Given the description of an element on the screen output the (x, y) to click on. 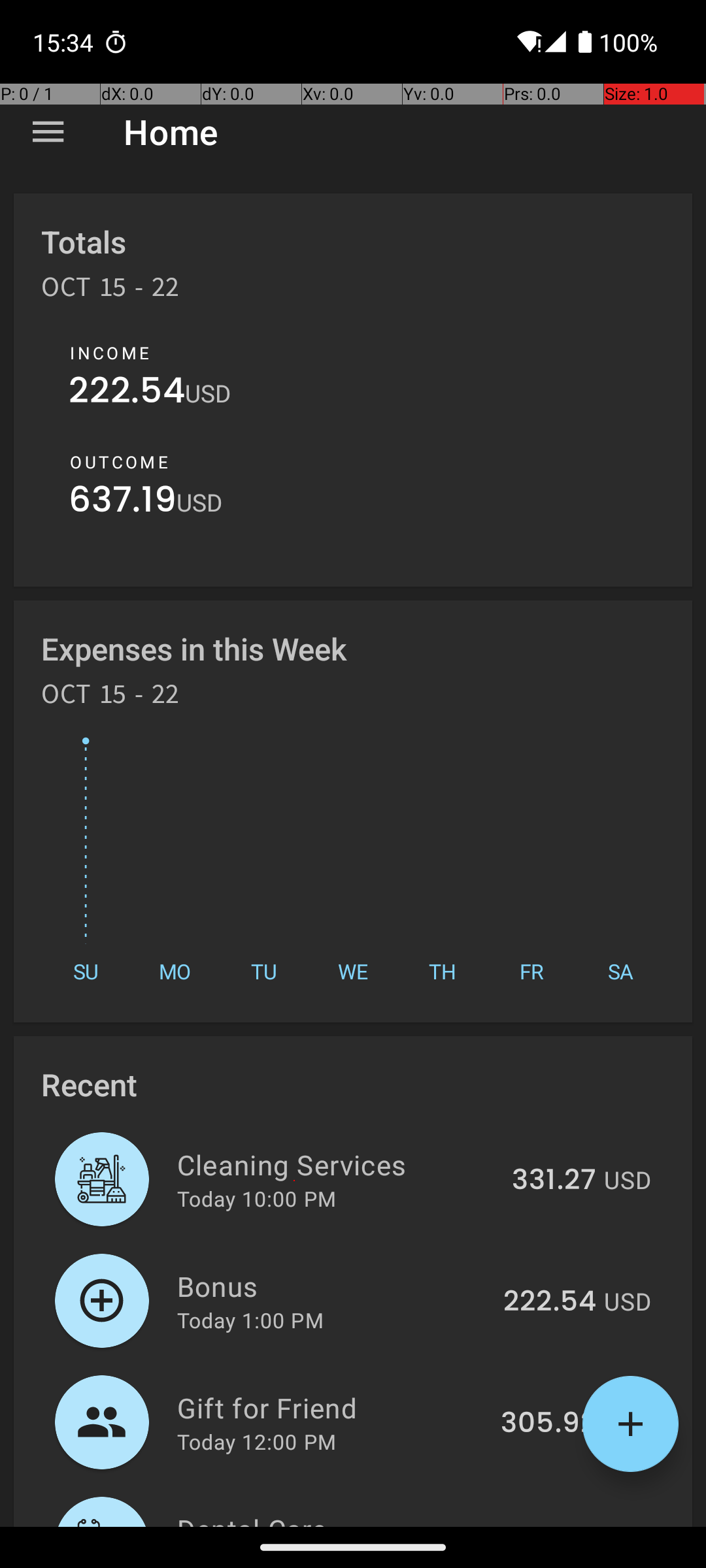
222.54 Element type: android.widget.TextView (126, 393)
637.19 Element type: android.widget.TextView (122, 502)
Cleaning Services Element type: android.widget.TextView (336, 1164)
331.27 Element type: android.widget.TextView (553, 1180)
305.92 Element type: android.widget.TextView (548, 1423)
Dental Care Element type: android.widget.TextView (339, 1518)
107.31 Element type: android.widget.TextView (555, 1524)
